Given the description of an element on the screen output the (x, y) to click on. 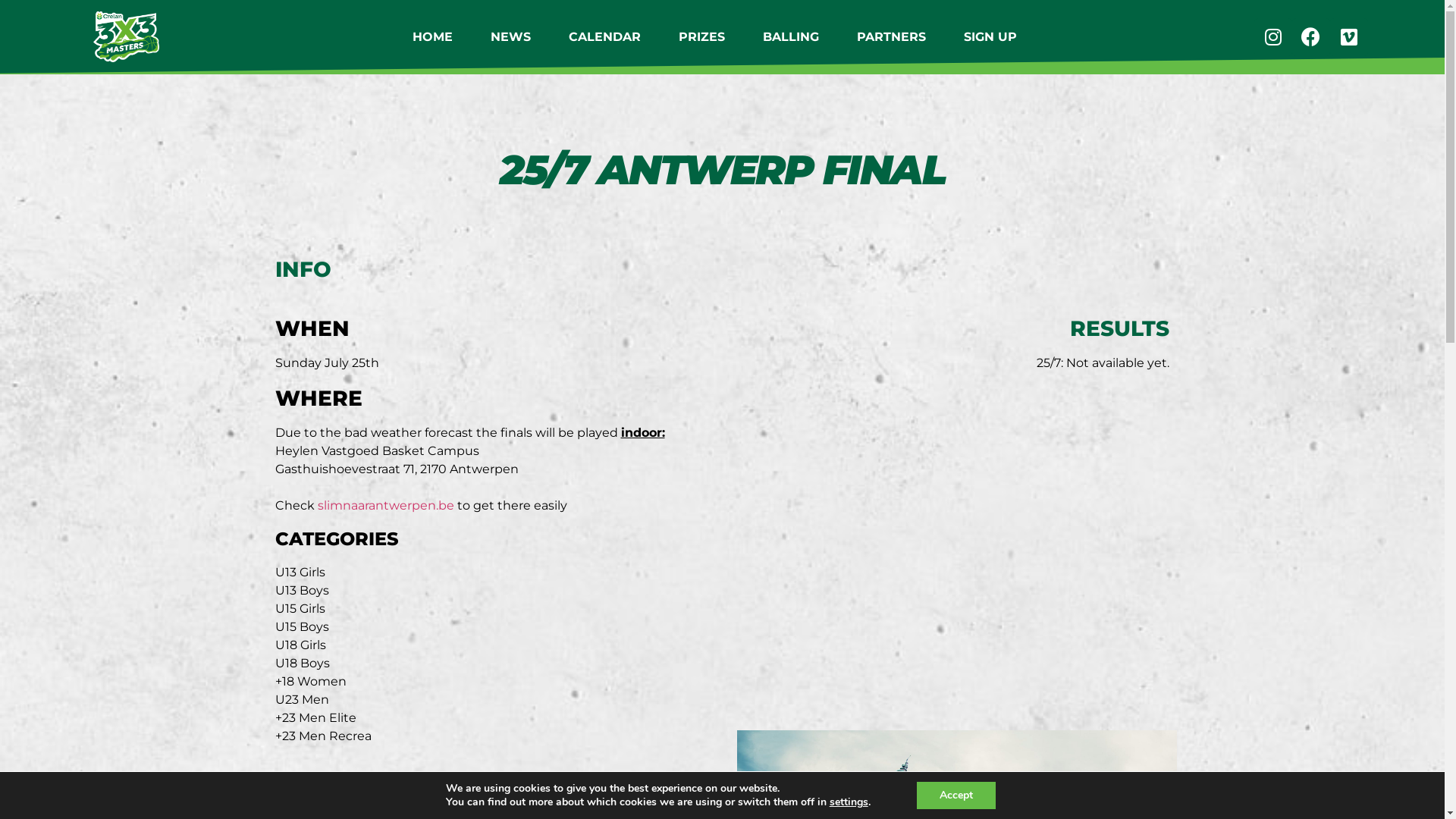
NEWS Element type: text (510, 36)
HOME Element type: text (432, 36)
slimnaarantwerpen.be Element type: text (384, 505)
PARTNERS Element type: text (890, 36)
PRIZES Element type: text (701, 36)
CALENDAR Element type: text (604, 36)
Accept Element type: text (955, 795)
SIGN UP Element type: text (989, 36)
BALLING Element type: text (790, 36)
